Given the description of an element on the screen output the (x, y) to click on. 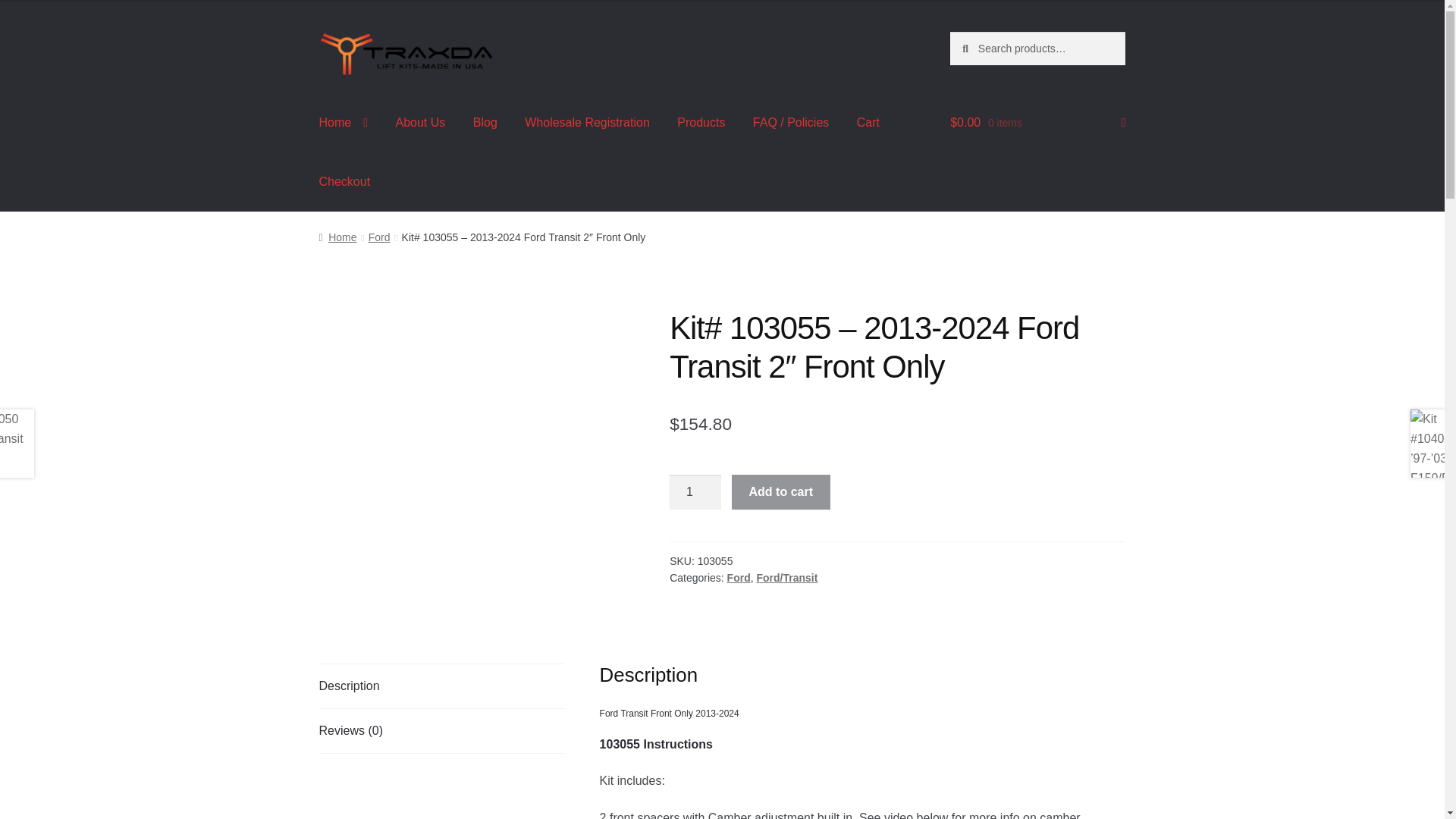
About Us (421, 122)
Description (441, 686)
Home (337, 236)
Add to cart (780, 492)
Checkout (344, 181)
1 (694, 492)
Home (343, 122)
View your shopping cart (1037, 122)
Wholesale Registration (587, 122)
Products (700, 122)
Ford (379, 236)
103055 Instructions (656, 744)
Ford (738, 577)
